Given the description of an element on the screen output the (x, y) to click on. 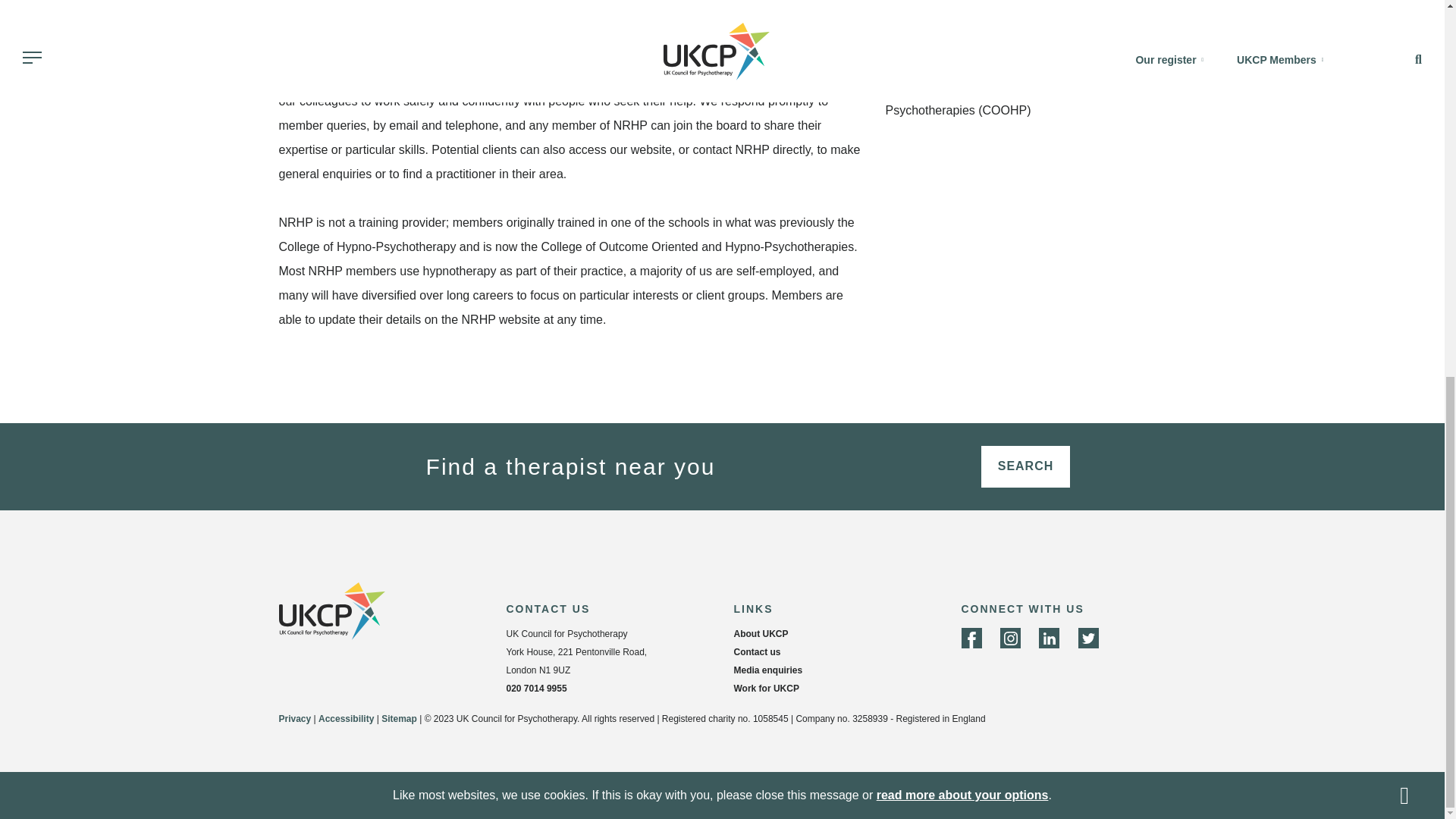
Privacy (962, 98)
Accessibility (346, 718)
Privacy (295, 718)
Sitemap (398, 718)
